Given the description of an element on the screen output the (x, y) to click on. 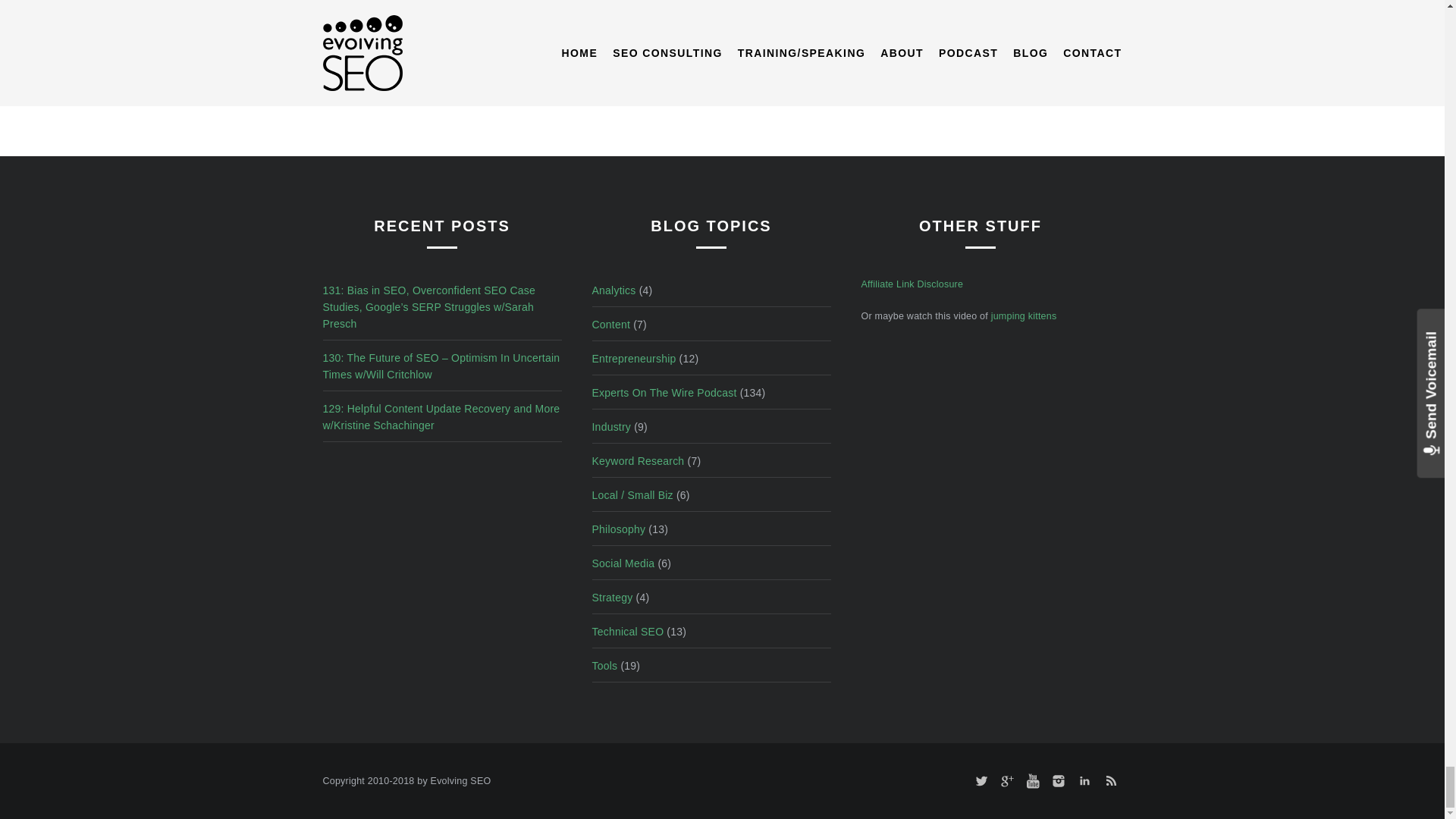
Post Comment (783, 22)
